Given the description of an element on the screen output the (x, y) to click on. 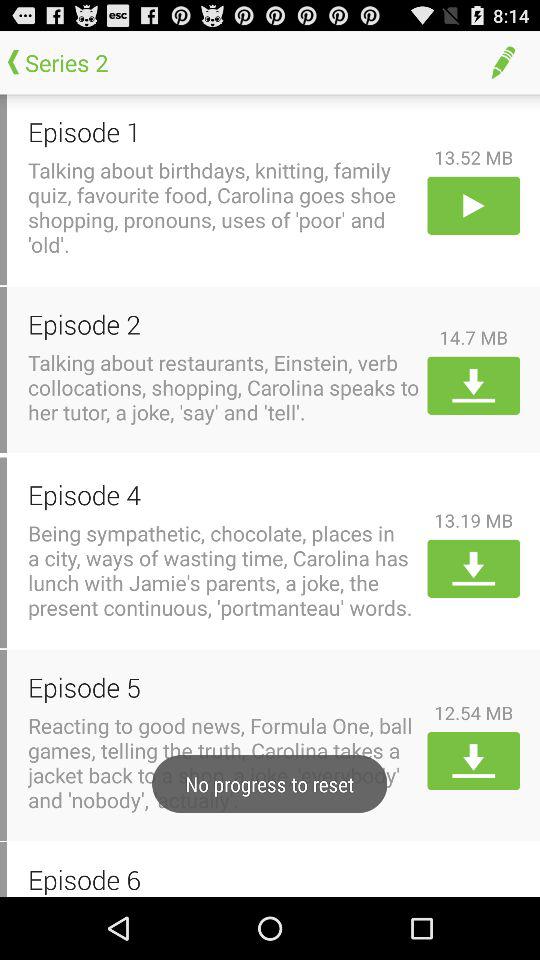
download episode 4 (473, 568)
